Given the description of an element on the screen output the (x, y) to click on. 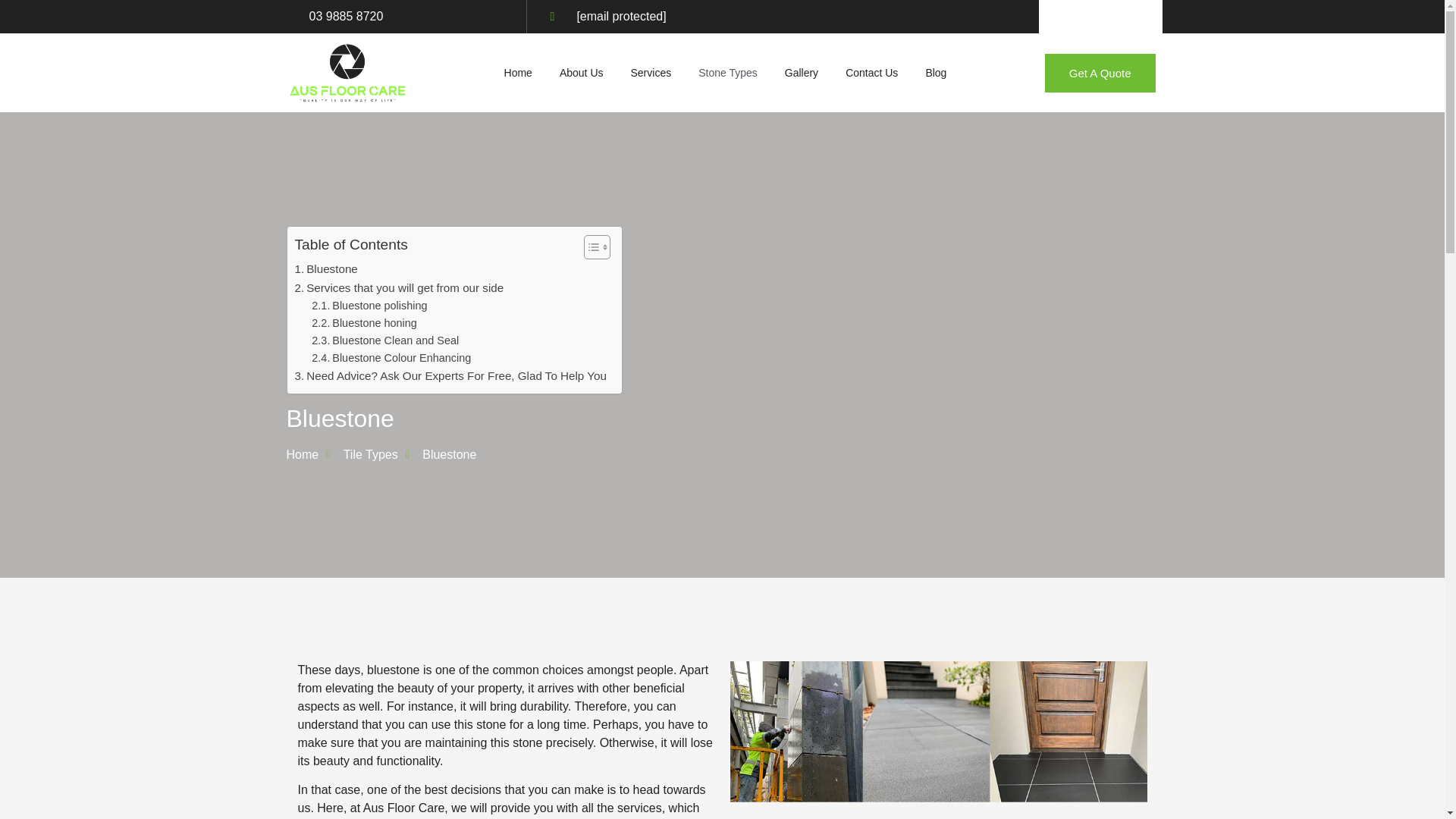
Stone Types (363, 323)
About Us (727, 72)
Need Advice? Ask Our Experts For Free, Glad To Help You (581, 72)
Services (325, 269)
03 9885 8720 (398, 288)
